Given the description of an element on the screen output the (x, y) to click on. 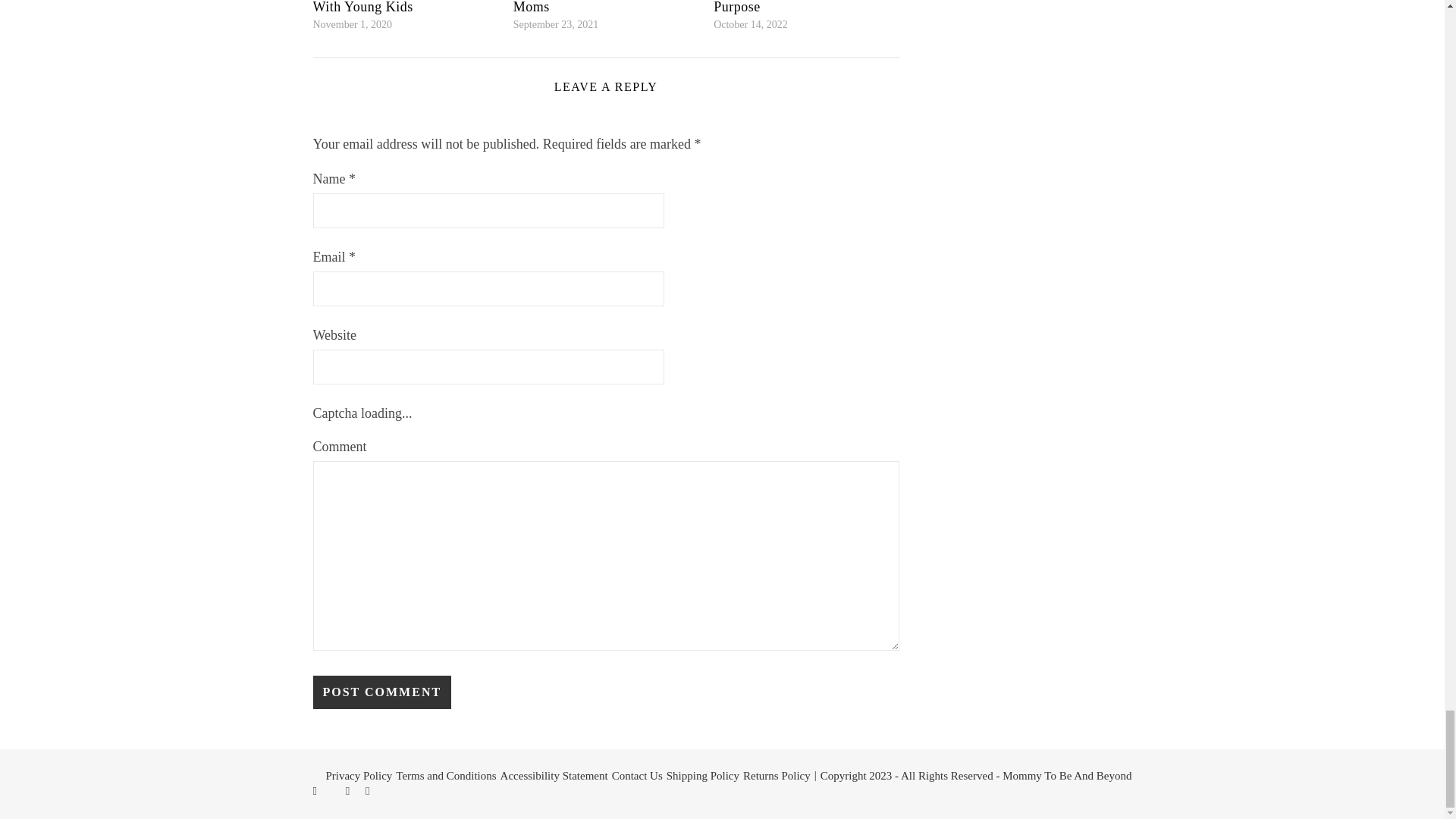
Post Comment (382, 692)
